Given the description of an element on the screen output the (x, y) to click on. 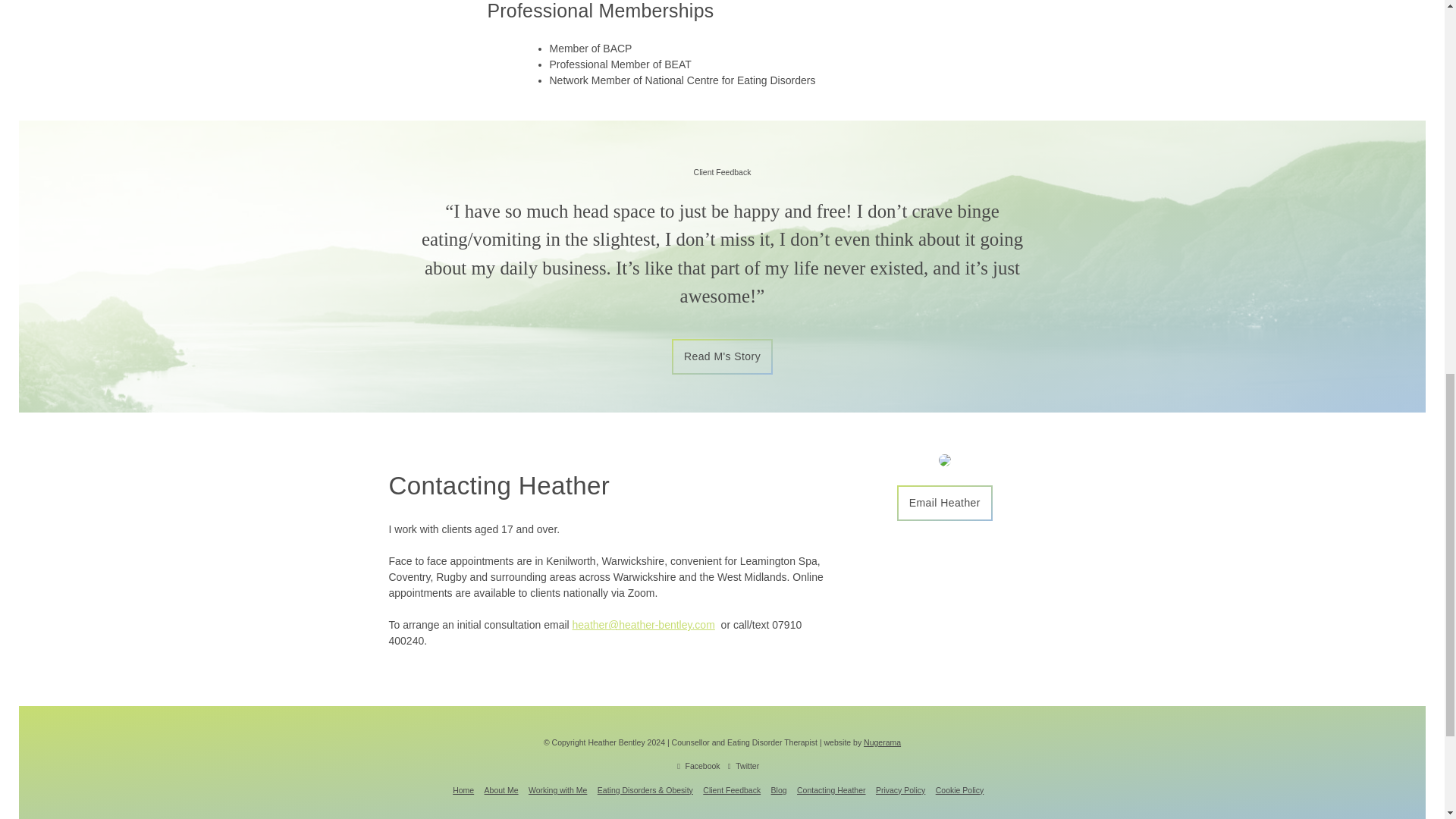
About Me (501, 789)
Twitter (743, 765)
Cookie Policy (960, 789)
Privacy Policy (900, 789)
Read M's Story (722, 356)
Facebook (698, 765)
Contacting Heather (830, 789)
Client Feedback (731, 789)
Nugerama (882, 741)
Home (463, 789)
Working with Me (557, 789)
Email Heather (944, 502)
Blog (779, 789)
